Given the description of an element on the screen output the (x, y) to click on. 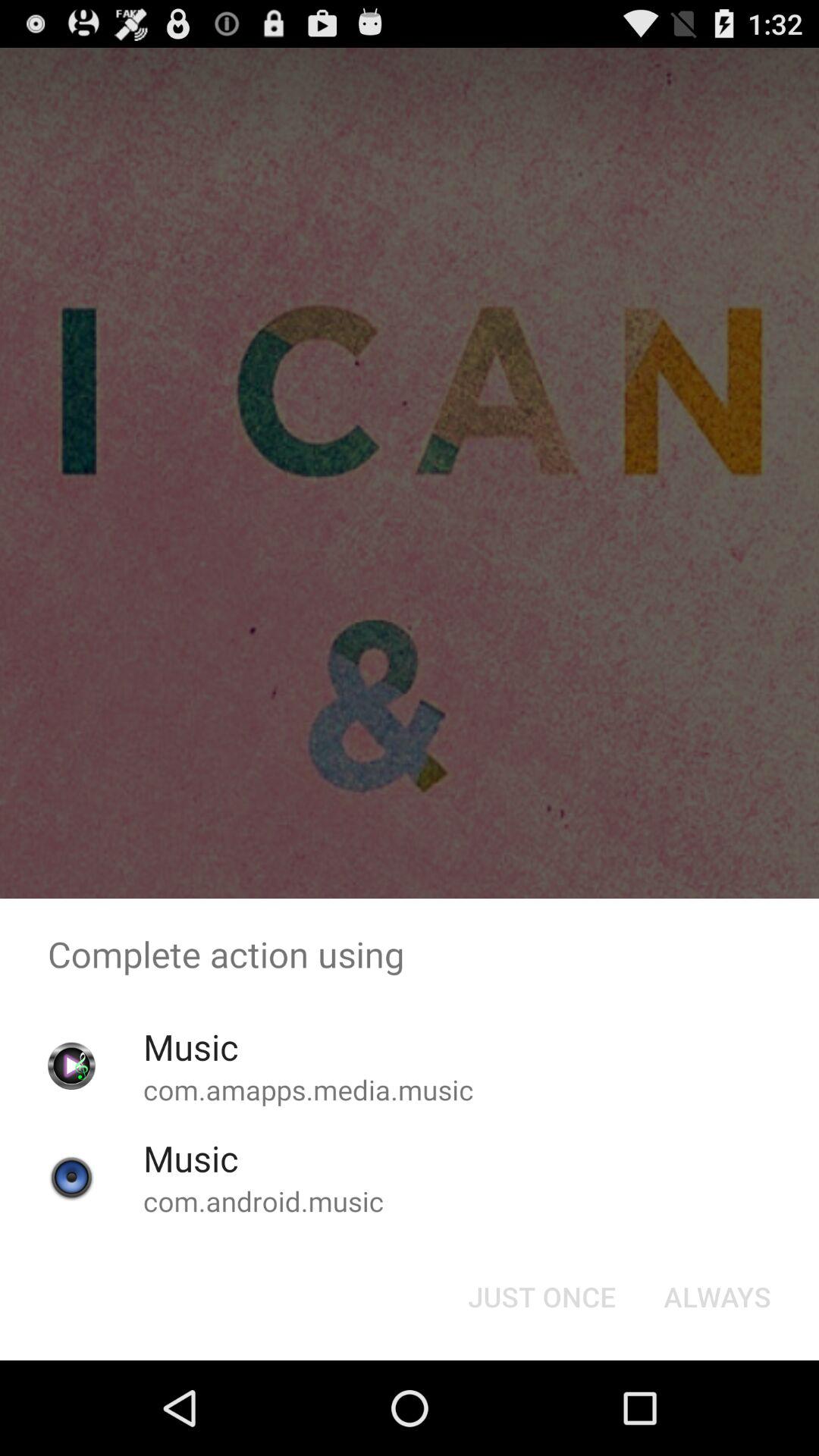
scroll to just once (541, 1296)
